Given the description of an element on the screen output the (x, y) to click on. 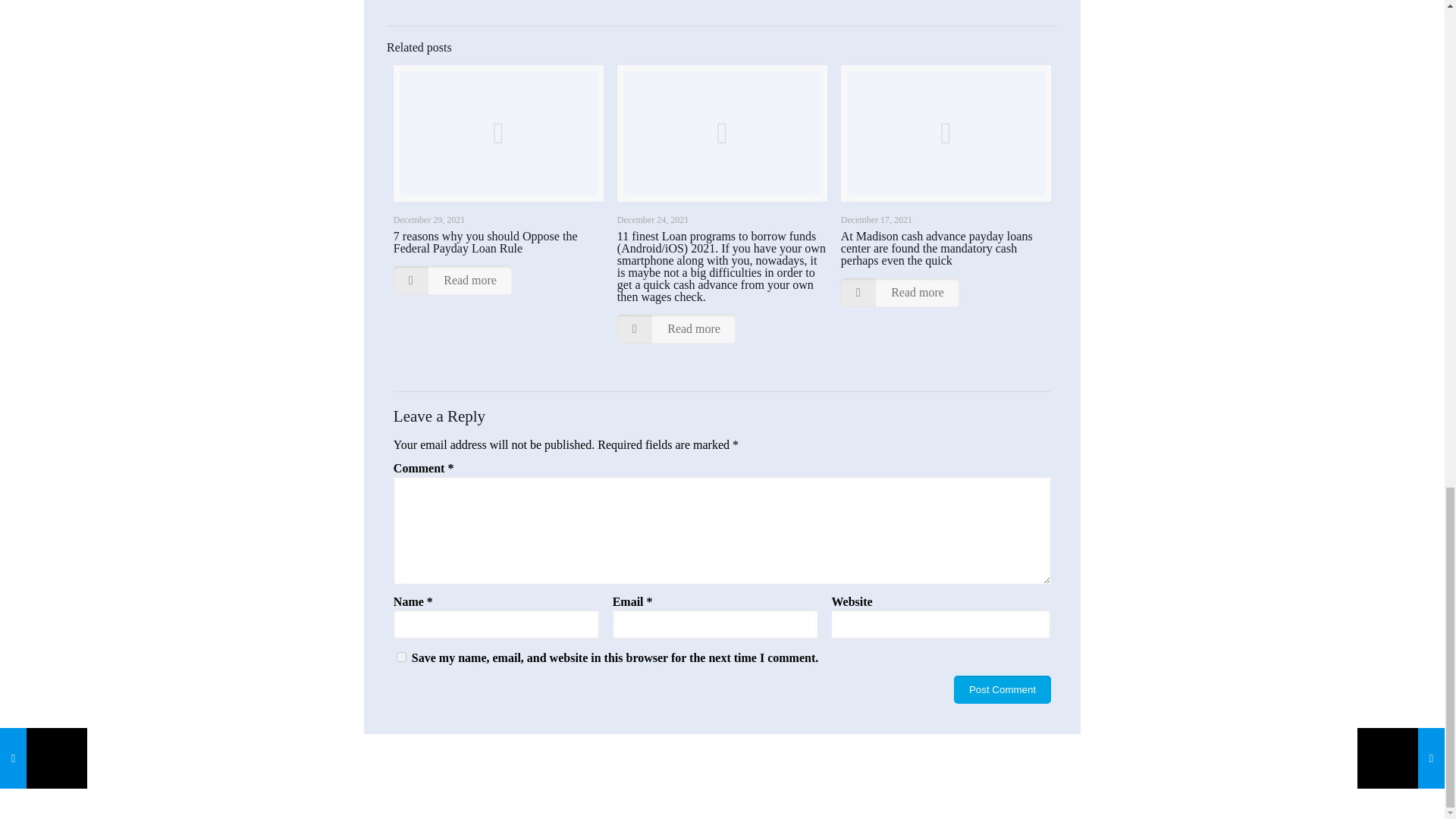
7 reasons why you should Oppose the Federal Payday Loan Rule (485, 242)
Read more (452, 280)
Post Comment (1002, 689)
Read more (900, 292)
yes (401, 656)
Post Comment (1002, 689)
Read more (676, 328)
Cactusgroup (860, 774)
